Given the description of an element on the screen output the (x, y) to click on. 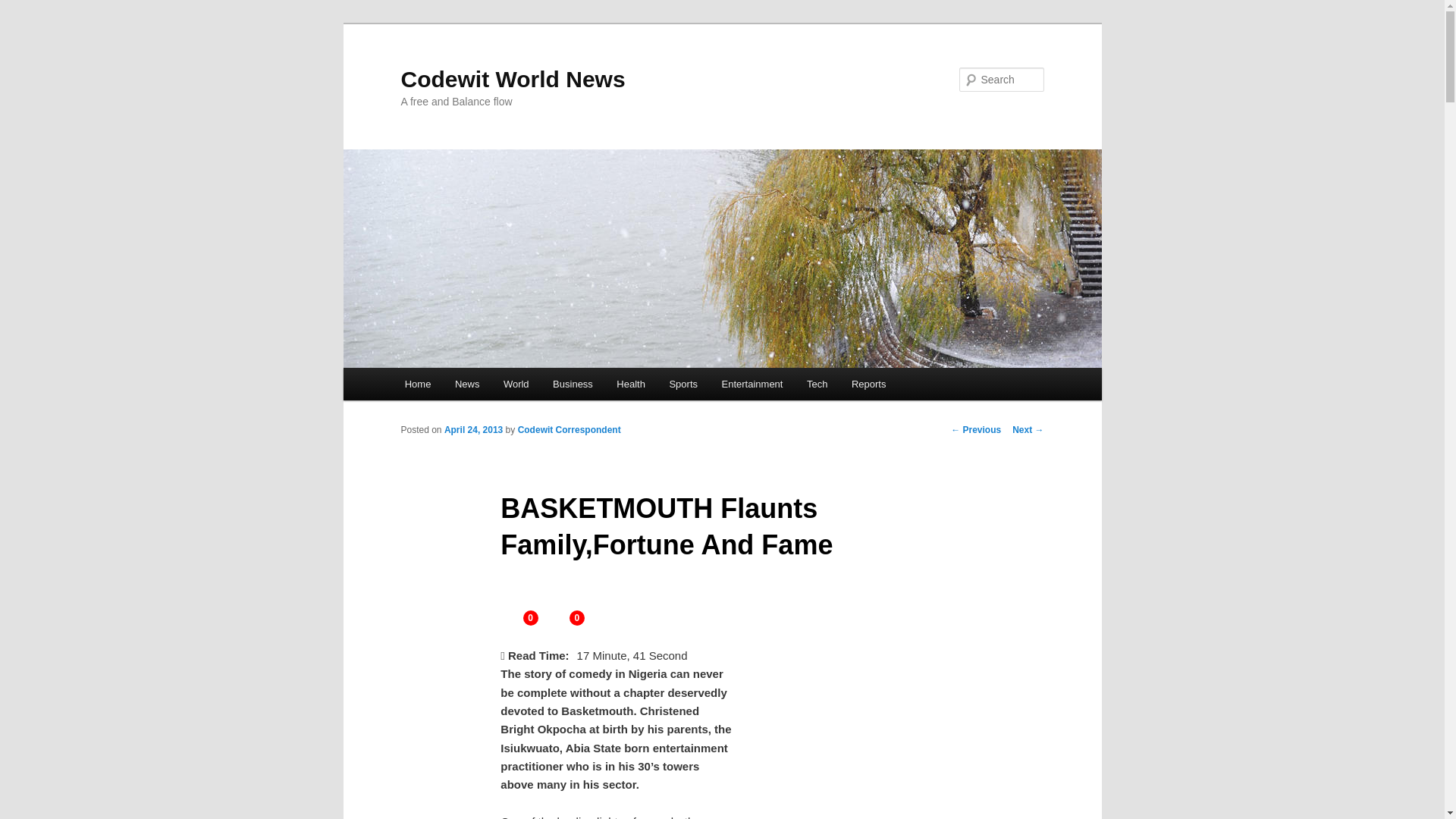
News (467, 383)
Health (631, 383)
Business (572, 383)
Codewit World News (512, 78)
Search (24, 8)
Entertainment (752, 383)
Tech (817, 383)
World (516, 383)
Sports (684, 383)
Home (417, 383)
